Given the description of an element on the screen output the (x, y) to click on. 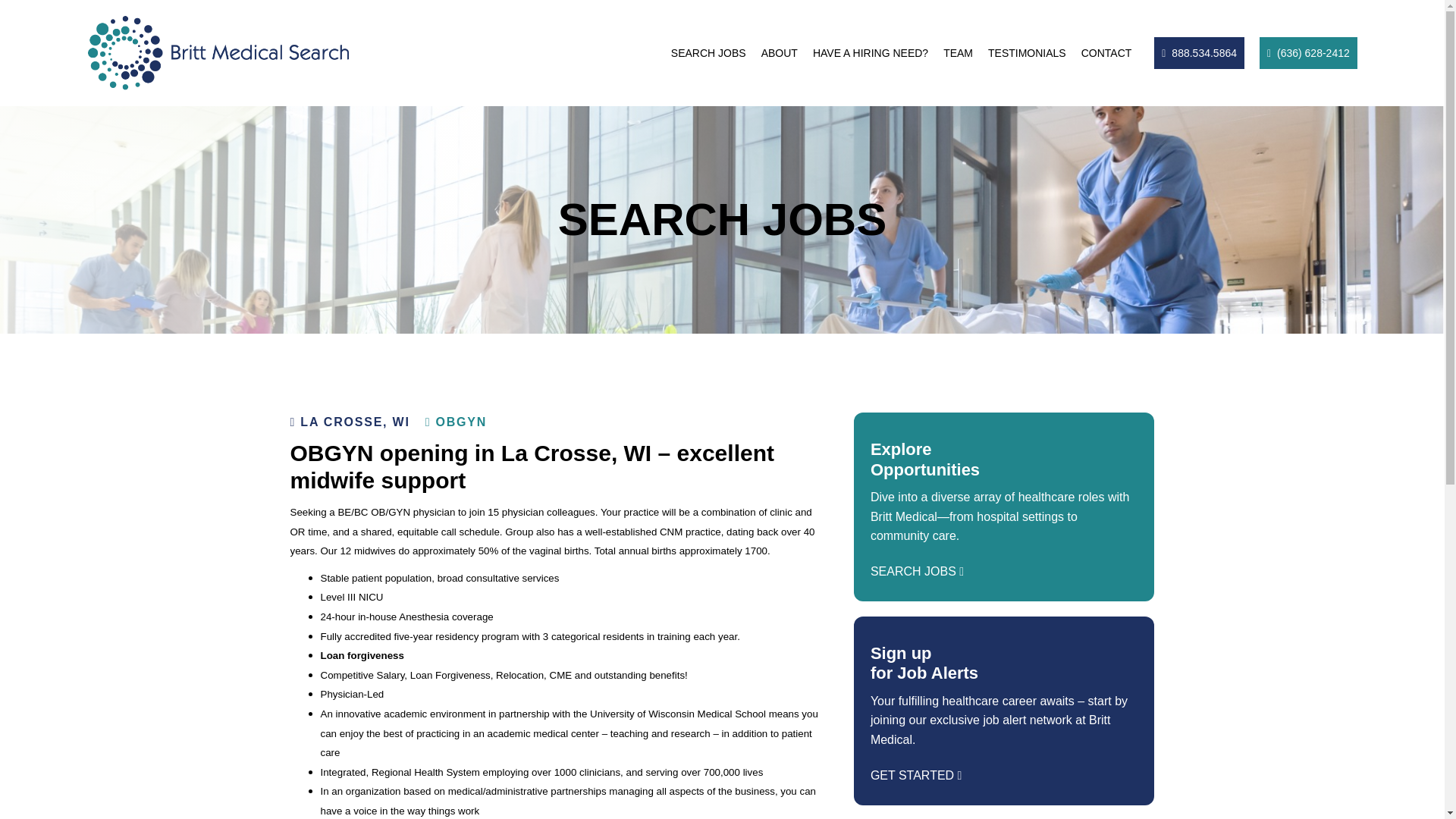
HAVE A HIRING NEED? (870, 52)
SEARCH JOBS (708, 52)
ABOUT (779, 52)
Britt Medical Search Logo (218, 52)
CONTACT (1107, 52)
TEAM (957, 52)
888.534.5864 (1199, 52)
TESTIMONIALS (1026, 52)
